Given the description of an element on the screen output the (x, y) to click on. 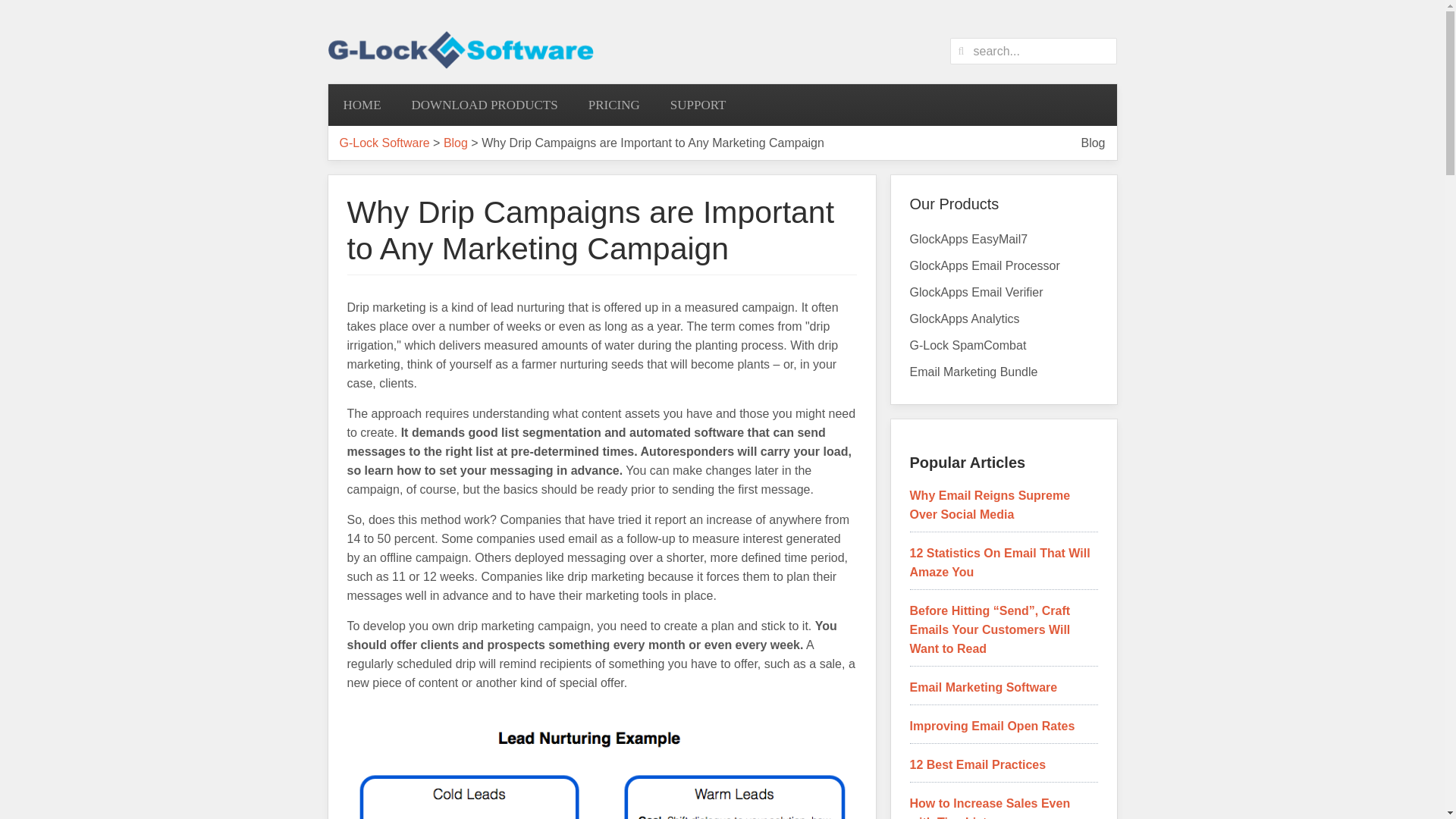
PRICING (614, 105)
How to Increase Sales Even with Tiny List (990, 807)
Blog (1092, 142)
12 Statistics On Email That Will Amaze You (1000, 562)
Email Marketing Software (984, 686)
SUPPORT (698, 105)
Blog (455, 142)
GlockApps Email Processor (1002, 265)
Why Email Reigns Supreme Over Social Media (990, 504)
Improving Email Open Rates (992, 725)
